Given the description of an element on the screen output the (x, y) to click on. 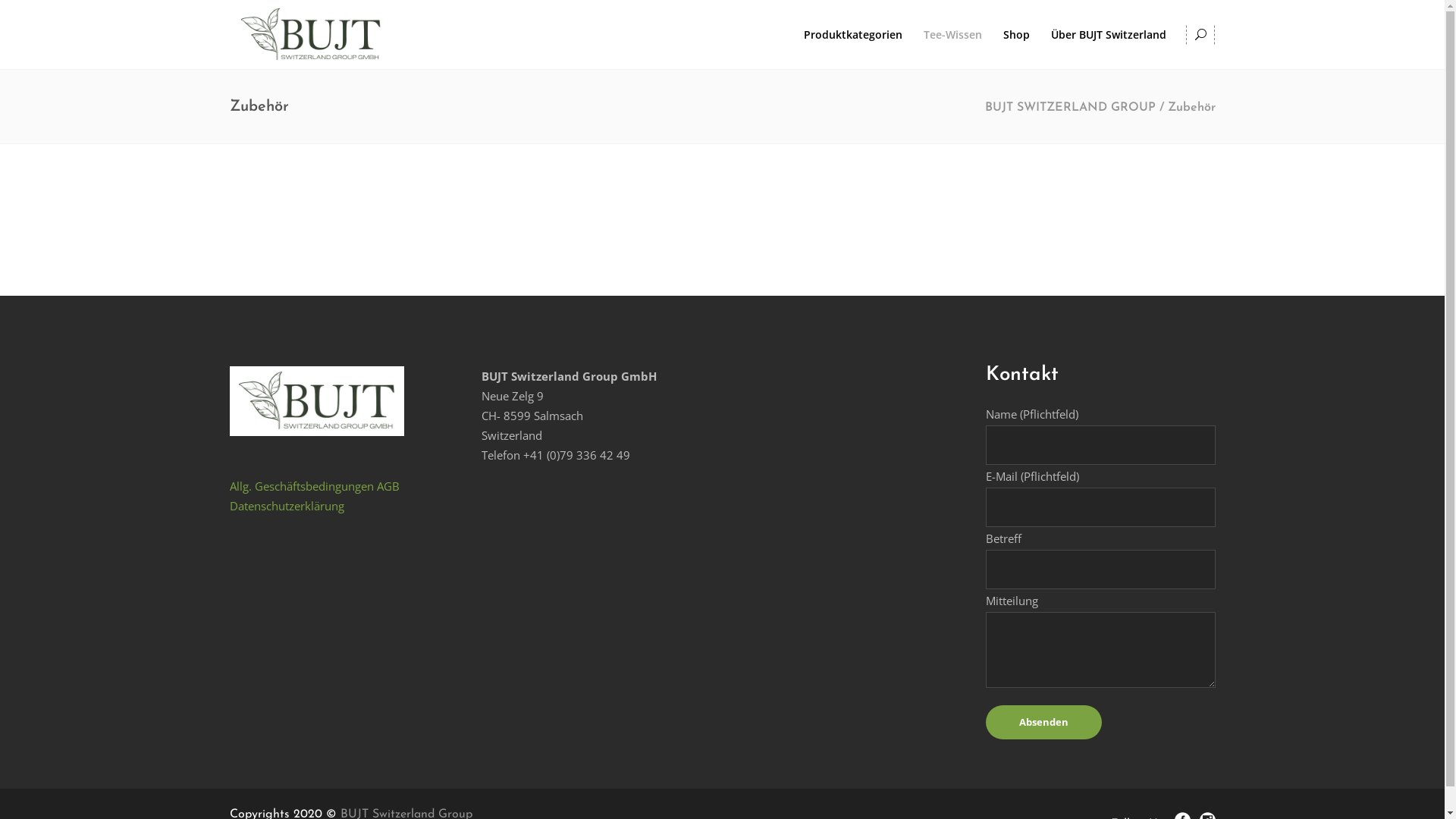
BUJT SWITZERLAND GROUP Element type: text (1069, 107)
Tee-Wissen Element type: text (952, 34)
Search Element type: text (1171, 93)
Absenden Element type: text (1043, 722)
Produktkategorien Element type: text (853, 34)
Shop Element type: text (1015, 34)
